Given the description of an element on the screen output the (x, y) to click on. 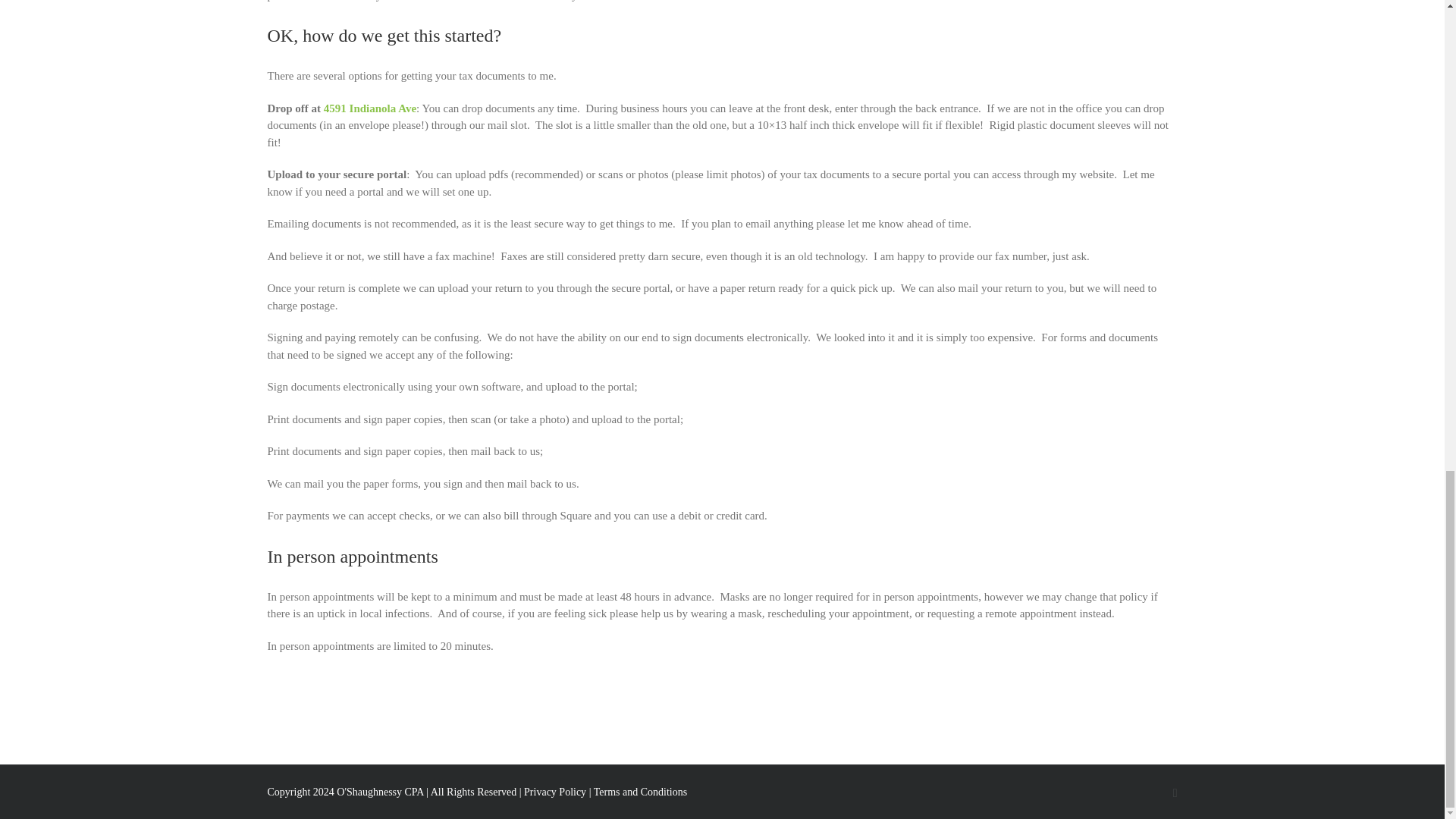
Privacy Policy (555, 791)
4591 Indianola Ave (369, 108)
Terms and Conditions (640, 791)
